Given the description of an element on the screen output the (x, y) to click on. 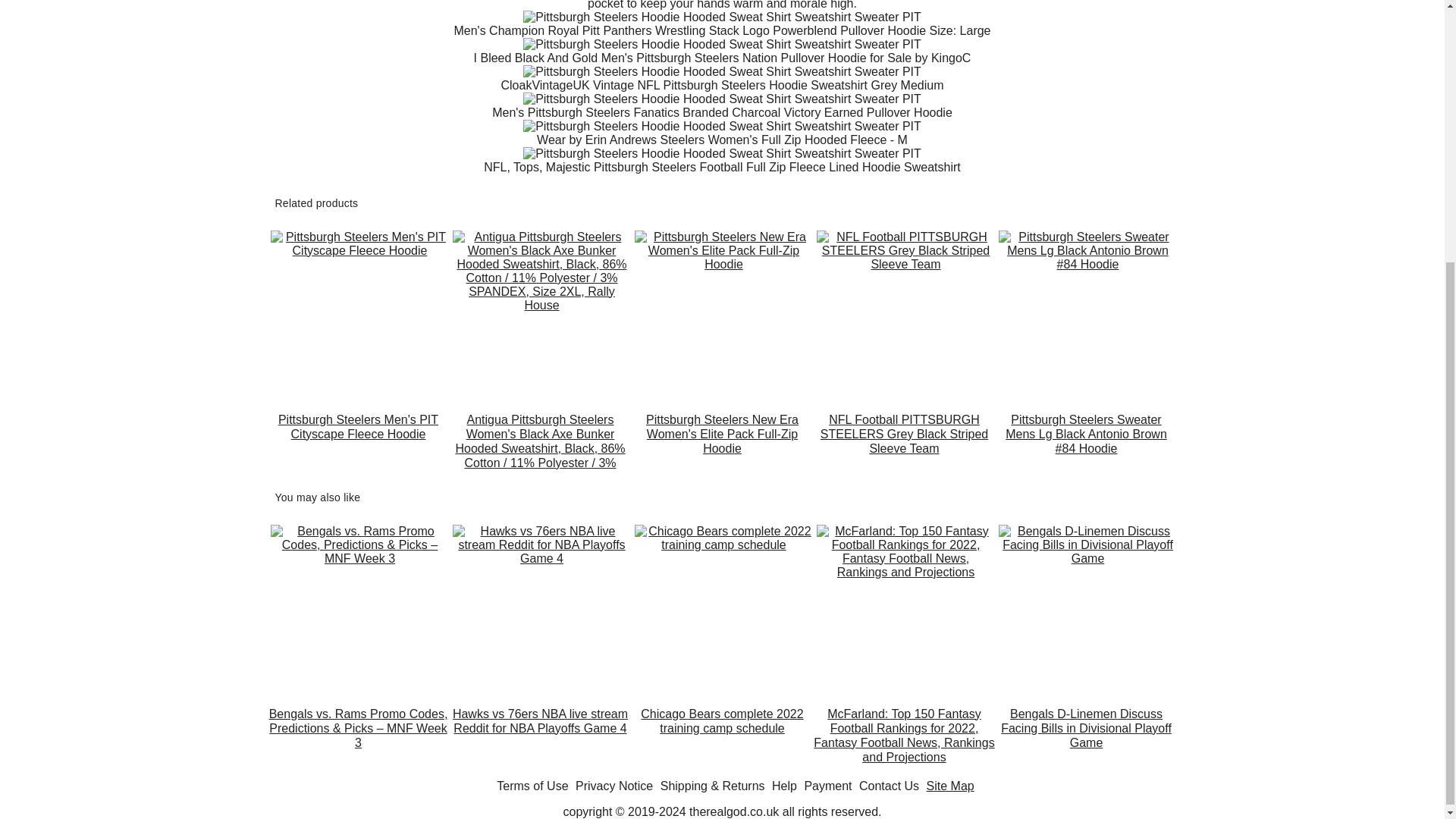
Terms of Use (531, 785)
Payment (827, 785)
Pittsburgh Steelers Men's PIT Cityscape Fleece Hoodie (357, 441)
Help (783, 785)
Chicago Bears complete 2022 training camp schedule (721, 735)
Privacy Notice (613, 785)
Pittsburgh Steelers Men's PIT Cityscape Fleece Hoodie (357, 441)
